Given the description of an element on the screen output the (x, y) to click on. 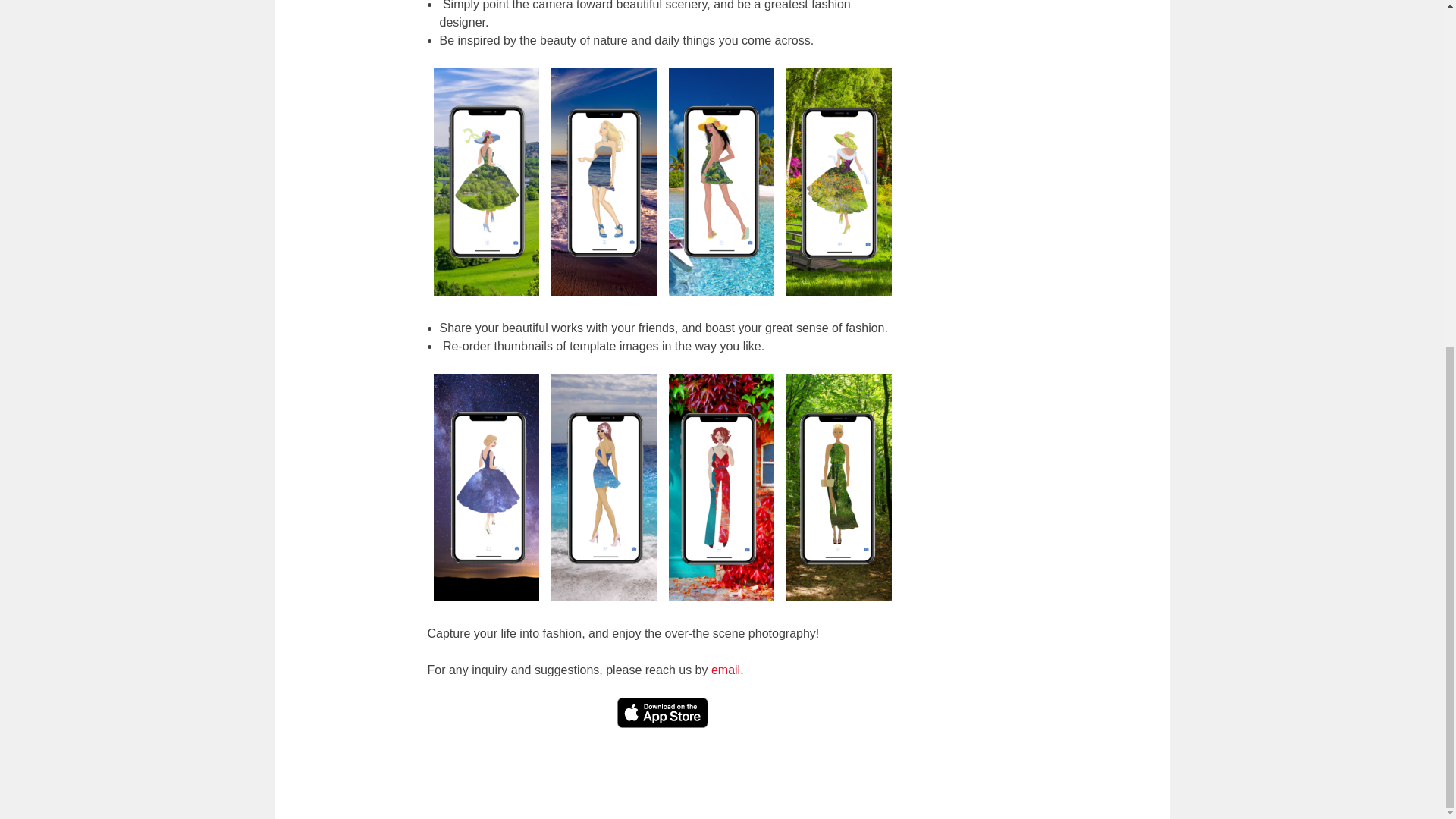
email (725, 669)
